Given the description of an element on the screen output the (x, y) to click on. 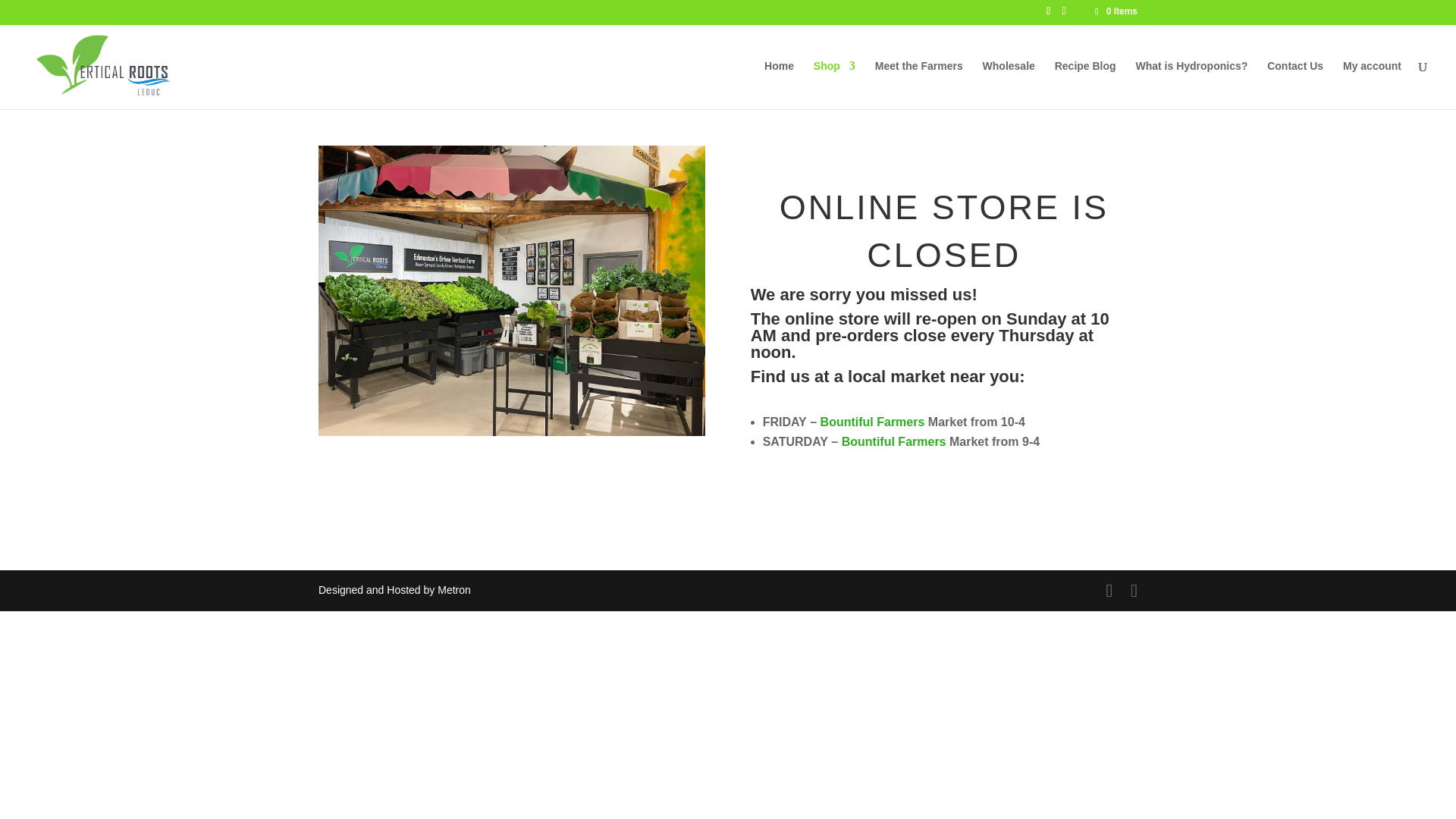
Wholesale (1008, 84)
Recipe Blog (1085, 84)
My account (1371, 84)
0 Items (1115, 10)
Bountiful Farmers (893, 440)
Meet the Farmers (918, 84)
BountifulFULL (511, 290)
Contact Us (1294, 84)
What is Hydroponics? (1191, 84)
Bountiful Farmers (872, 421)
